Given the description of an element on the screen output the (x, y) to click on. 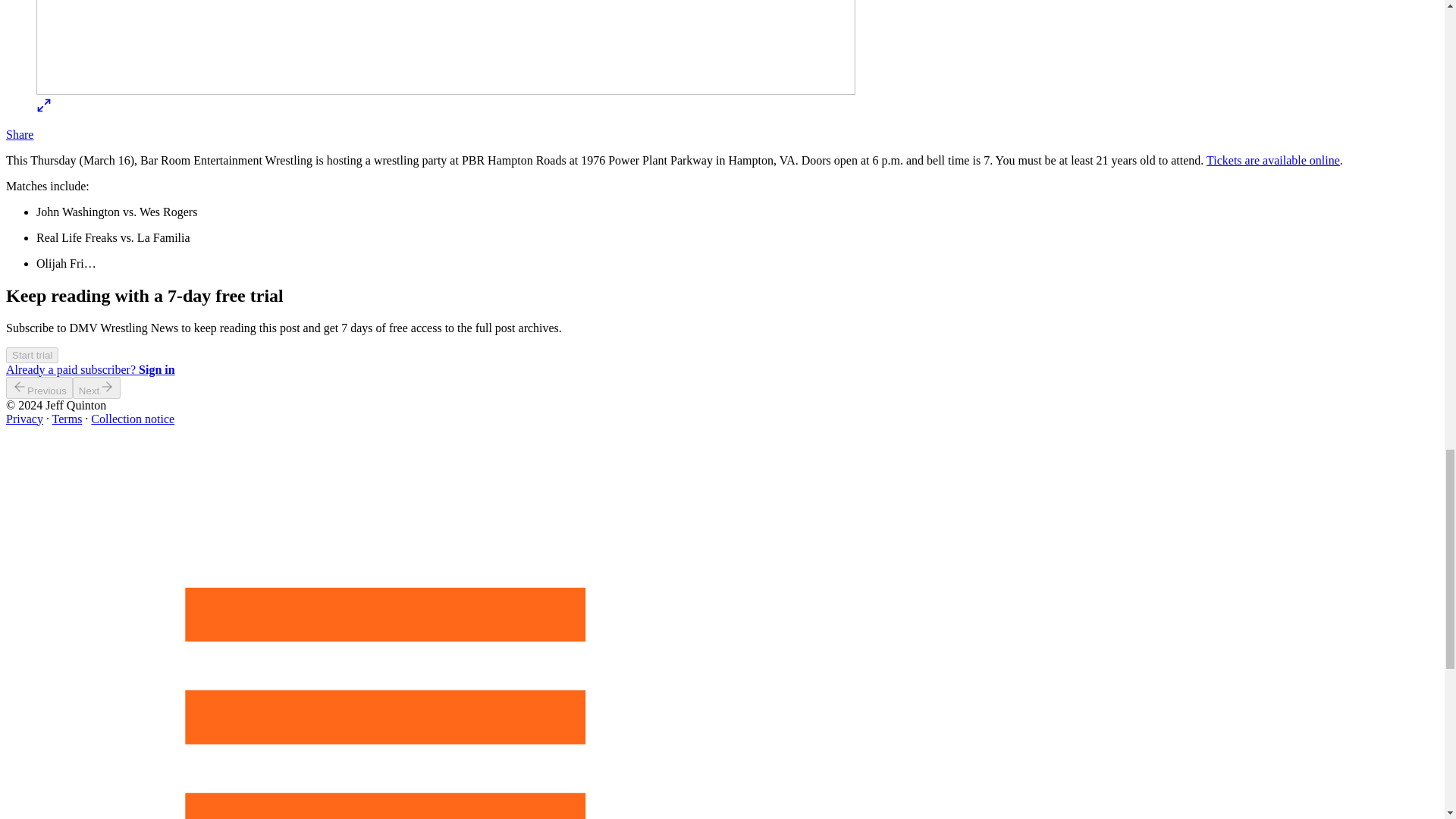
Privacy (24, 418)
Next (96, 387)
Terms (67, 418)
Start trial (31, 355)
Tickets are available online (1273, 160)
Share (19, 133)
Start trial (31, 354)
Previous (38, 387)
Collection notice (132, 418)
Already a paid subscriber? Sign in (89, 369)
